Given the description of an element on the screen output the (x, y) to click on. 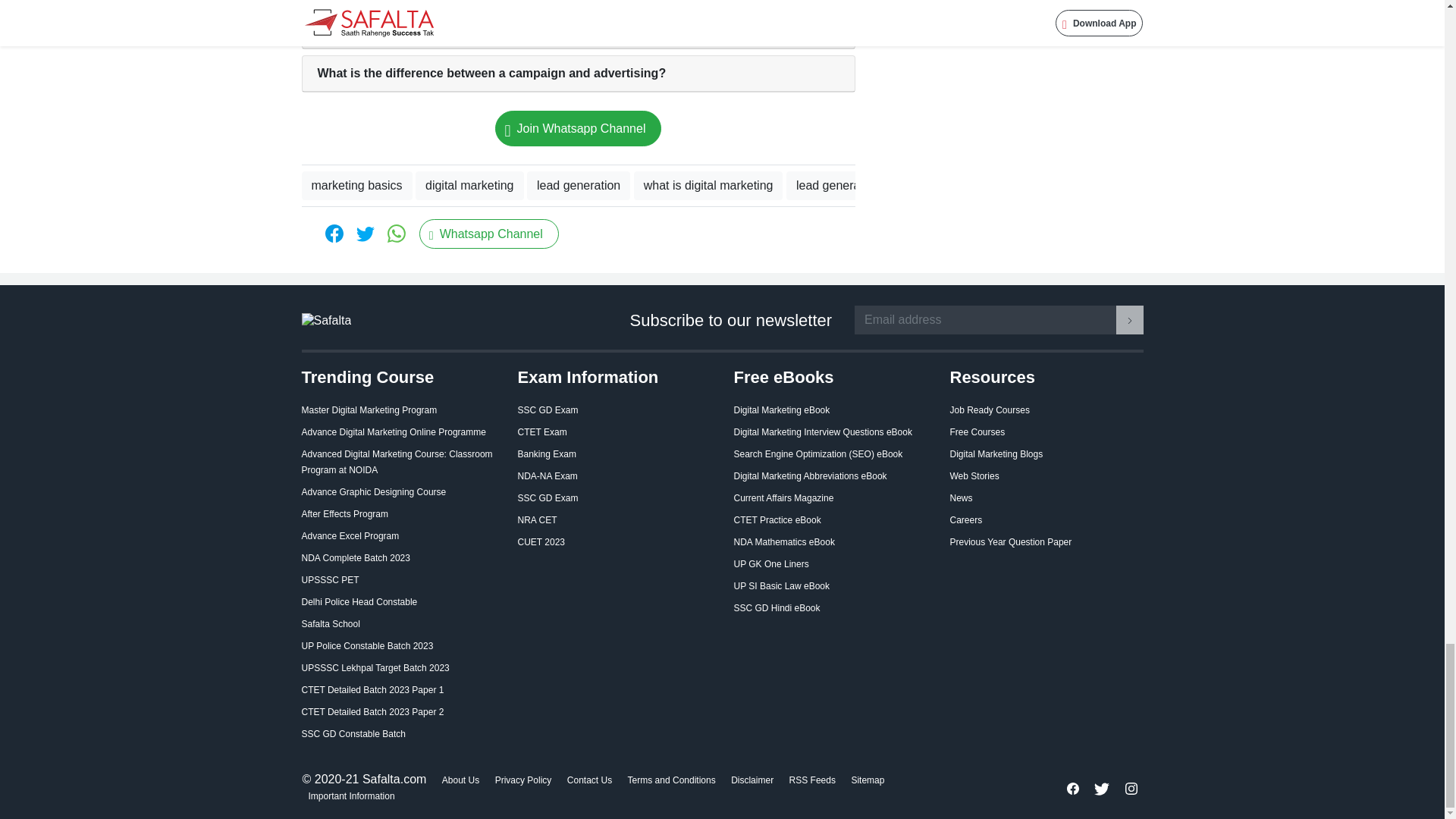
b2b lead generation (1012, 185)
what is digital marketing (708, 185)
Whatsapp Channel (489, 233)
marketing basics (356, 185)
lead generation (578, 185)
follow our whatsapp channel (578, 128)
follow our whatsapp channel (489, 233)
lead generation strategies in digital marketing (1210, 185)
Join Whatsapp Channel (578, 128)
digital marketing (469, 185)
